Given the description of an element on the screen output the (x, y) to click on. 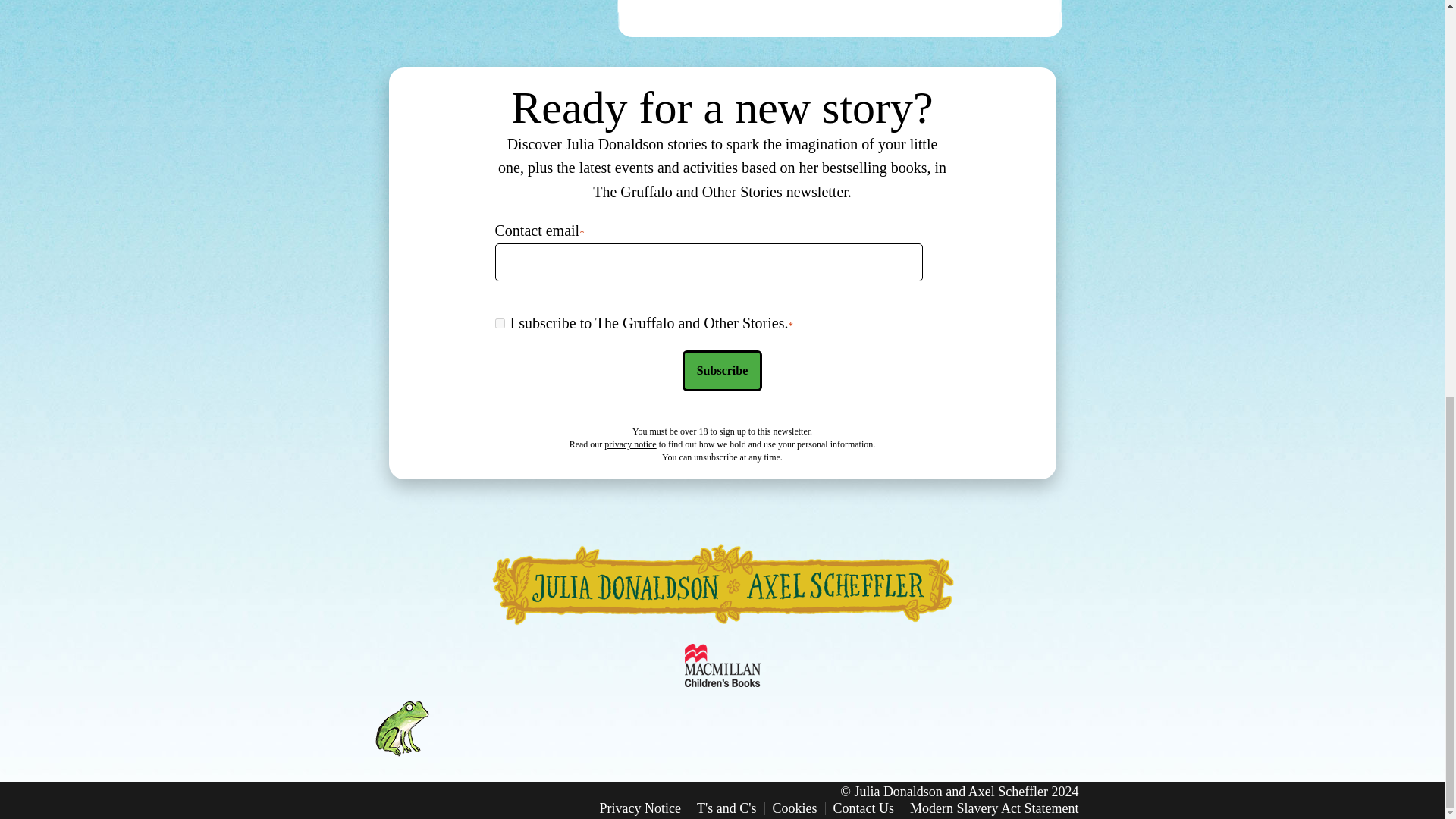
on (499, 323)
Pan Macmillan Privacy Notice (630, 443)
Subscribe (722, 370)
